Given the description of an element on the screen output the (x, y) to click on. 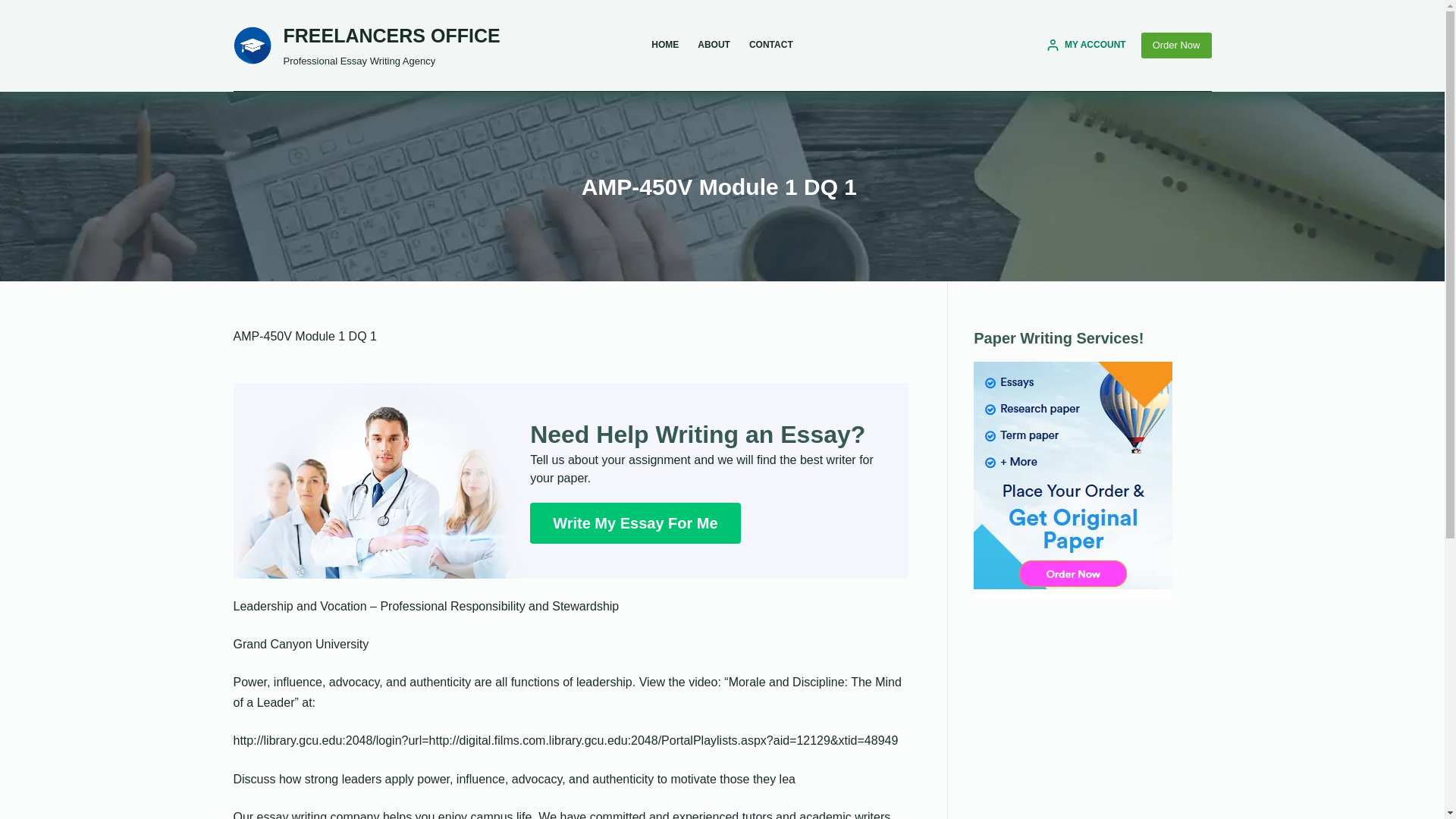
MY ACCOUNT (1085, 45)
Skip to content (15, 7)
Write My Essay For Me (634, 522)
Order Now (1176, 45)
FREELANCERS OFFICE (391, 35)
